Given the description of an element on the screen output the (x, y) to click on. 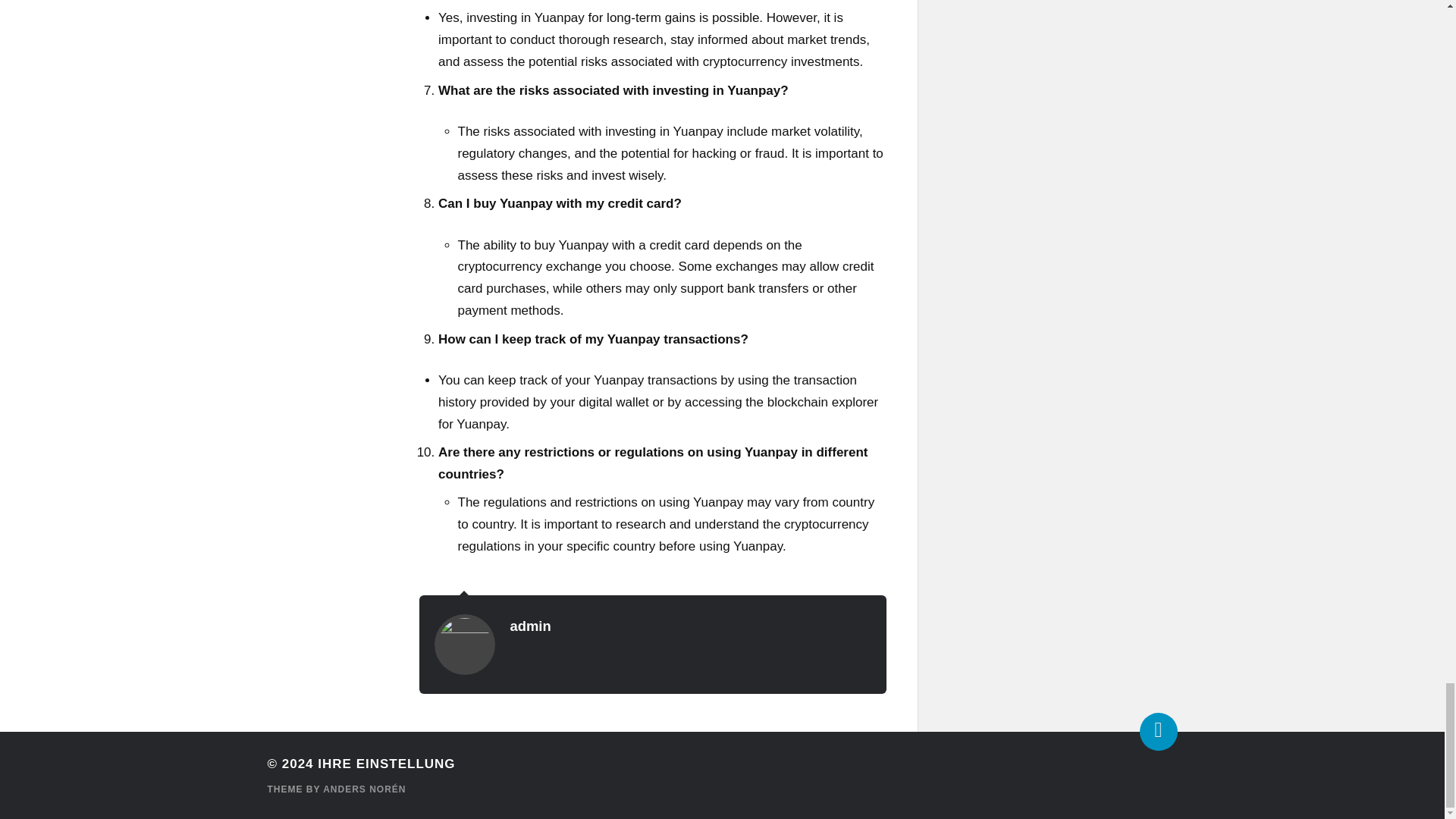
admin (529, 625)
